Given the description of an element on the screen output the (x, y) to click on. 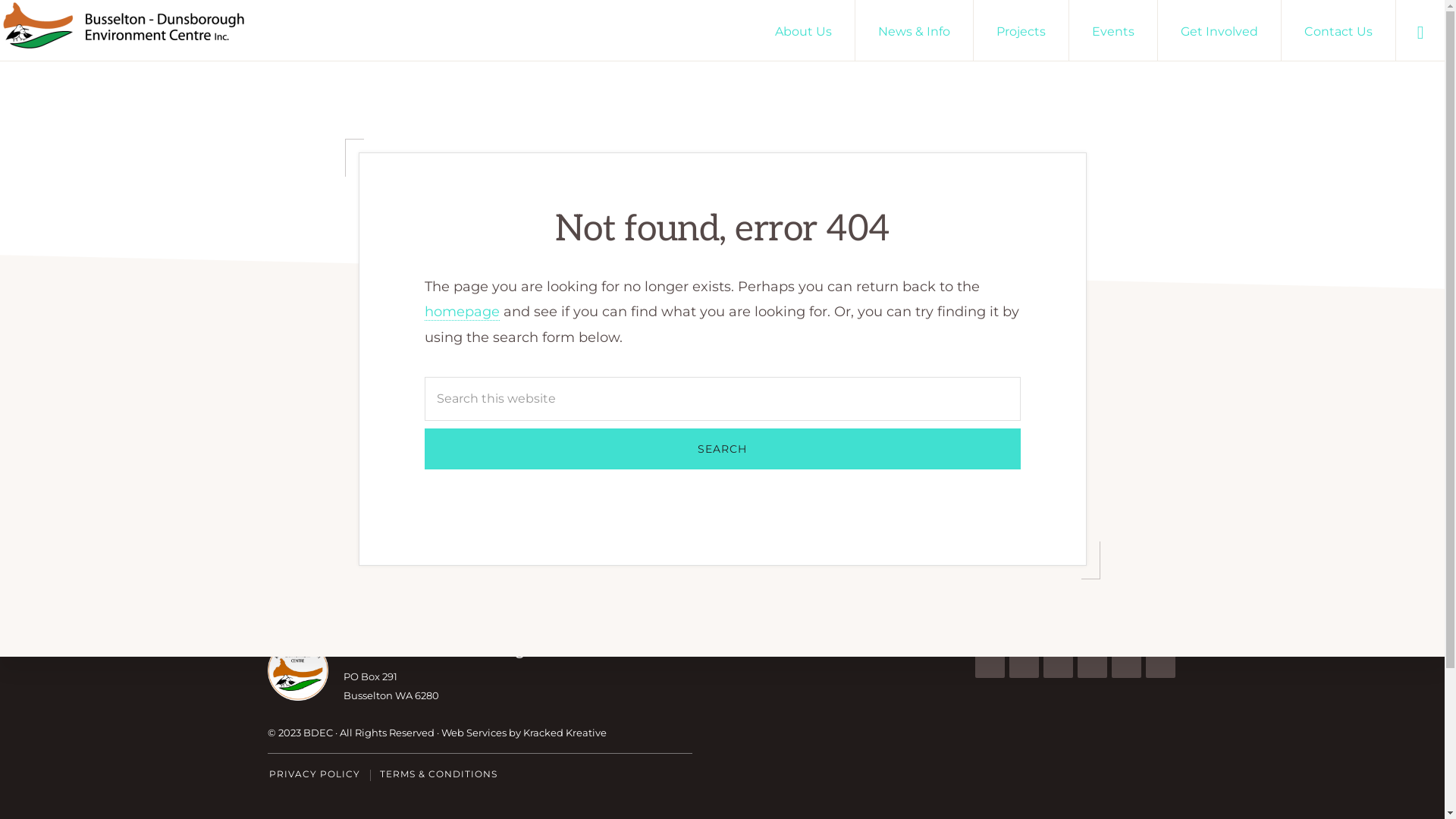
About Us Element type: text (803, 30)
PRIVACY POLICY Element type: text (313, 775)
DONATIONS Element type: text (914, 714)
TERMS & CONDITIONS Element type: text (437, 775)
VOLUNTEER WITH BDEC Element type: text (567, 714)
BDEC Element type: text (317, 733)
Skip to primary navigation Element type: text (0, 0)
homepage Element type: text (461, 311)
Search Element type: text (722, 448)
Projects Element type: text (1020, 30)
Get Involved Element type: text (1218, 30)
News & Info Element type: text (913, 30)
Events Element type: text (1113, 30)
Contact Us Element type: text (1338, 30)
BECOME A MEMBER Element type: text (758, 714)
Kracked Kreative Element type: text (564, 733)
Show Search Element type: text (1420, 30)
